Given the description of an element on the screen output the (x, y) to click on. 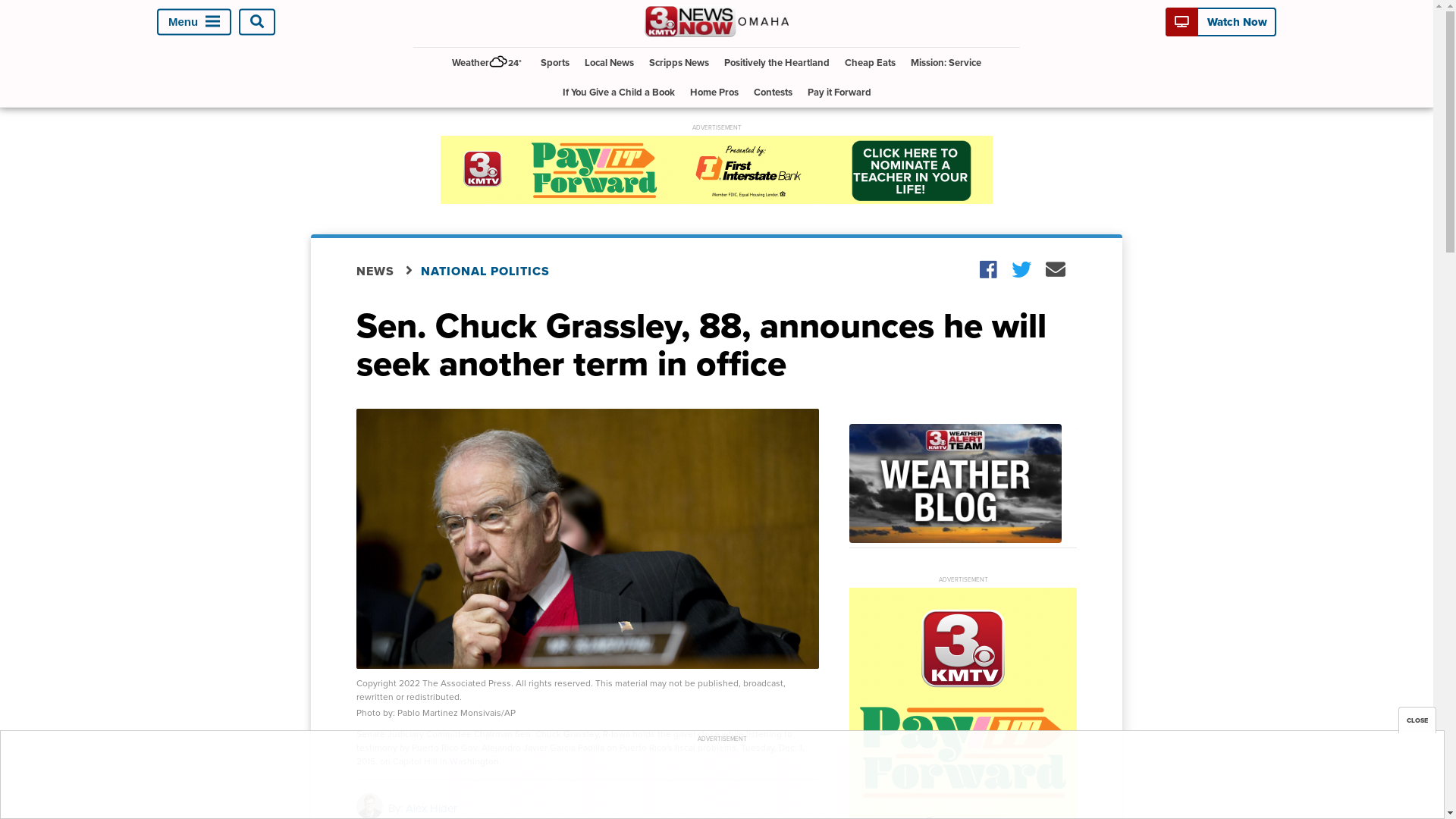
3rd party ad content Element type: hover (721, 780)
Home Pros Element type: text (714, 91)
Cheap Eats Element type: text (869, 62)
Sports Element type: text (554, 62)
3rd party ad content Element type: hover (716, 169)
Mission: Service Element type: text (945, 62)
Positively the Heartland Element type: text (776, 62)
Watch Now Element type: text (1220, 21)
NEWS Element type: text (388, 270)
If You Give a Child a Book Element type: text (618, 91)
Local News Element type: text (609, 62)
Alex Hider Element type: text (431, 808)
Scripps News Element type: text (679, 62)
Contests Element type: text (772, 91)
Menu Element type: text (193, 21)
Pay it Forward Element type: text (838, 91)
NATIONAL POLITICS Element type: text (494, 270)
